Given the description of an element on the screen output the (x, y) to click on. 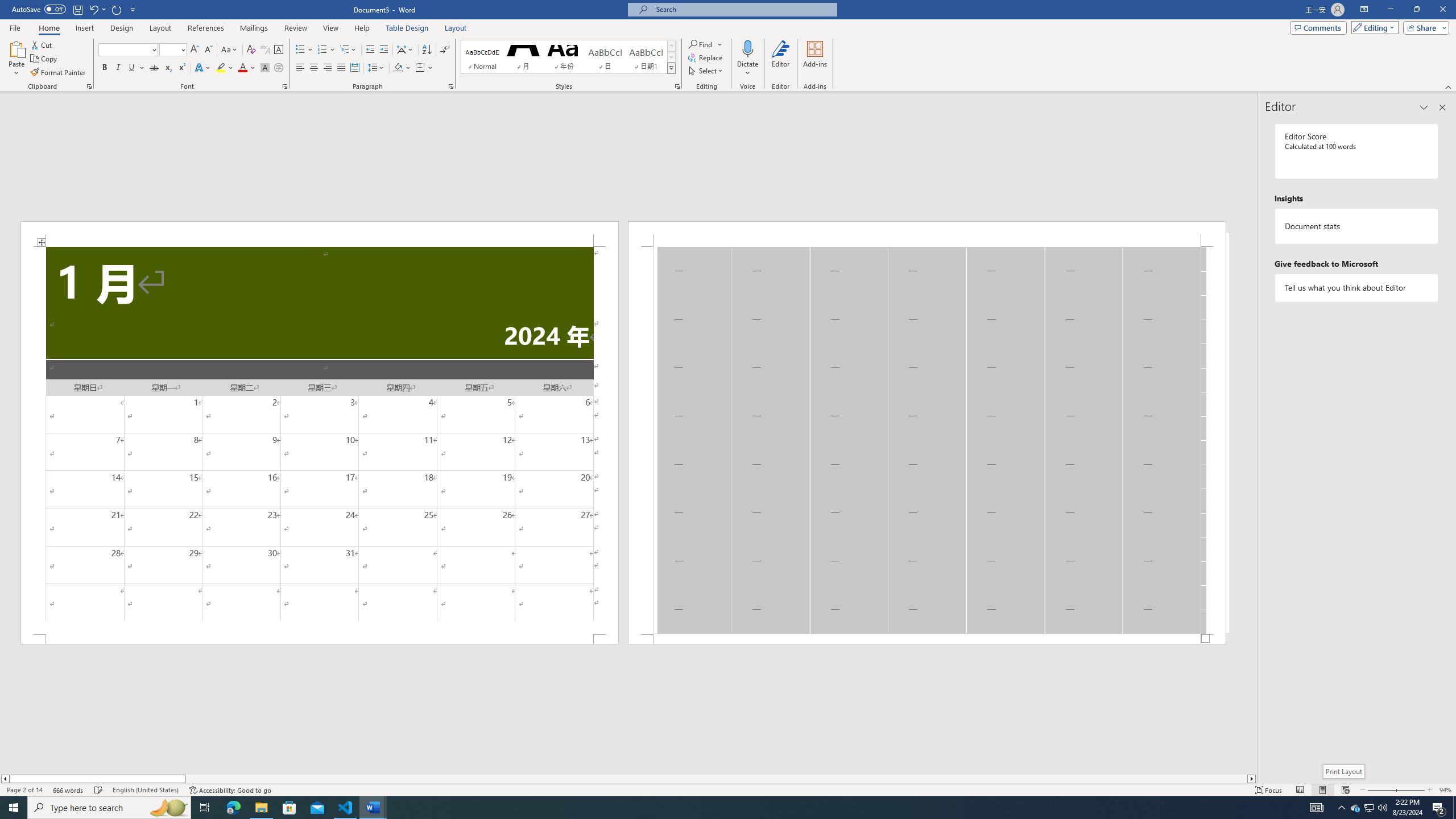
Language English (United States) (145, 790)
Office Clipboard... (88, 85)
Phonetic Guide... (264, 49)
Format Painter (58, 72)
Spelling and Grammar Check Checking (98, 790)
Shrink Font (208, 49)
